Given the description of an element on the screen output the (x, y) to click on. 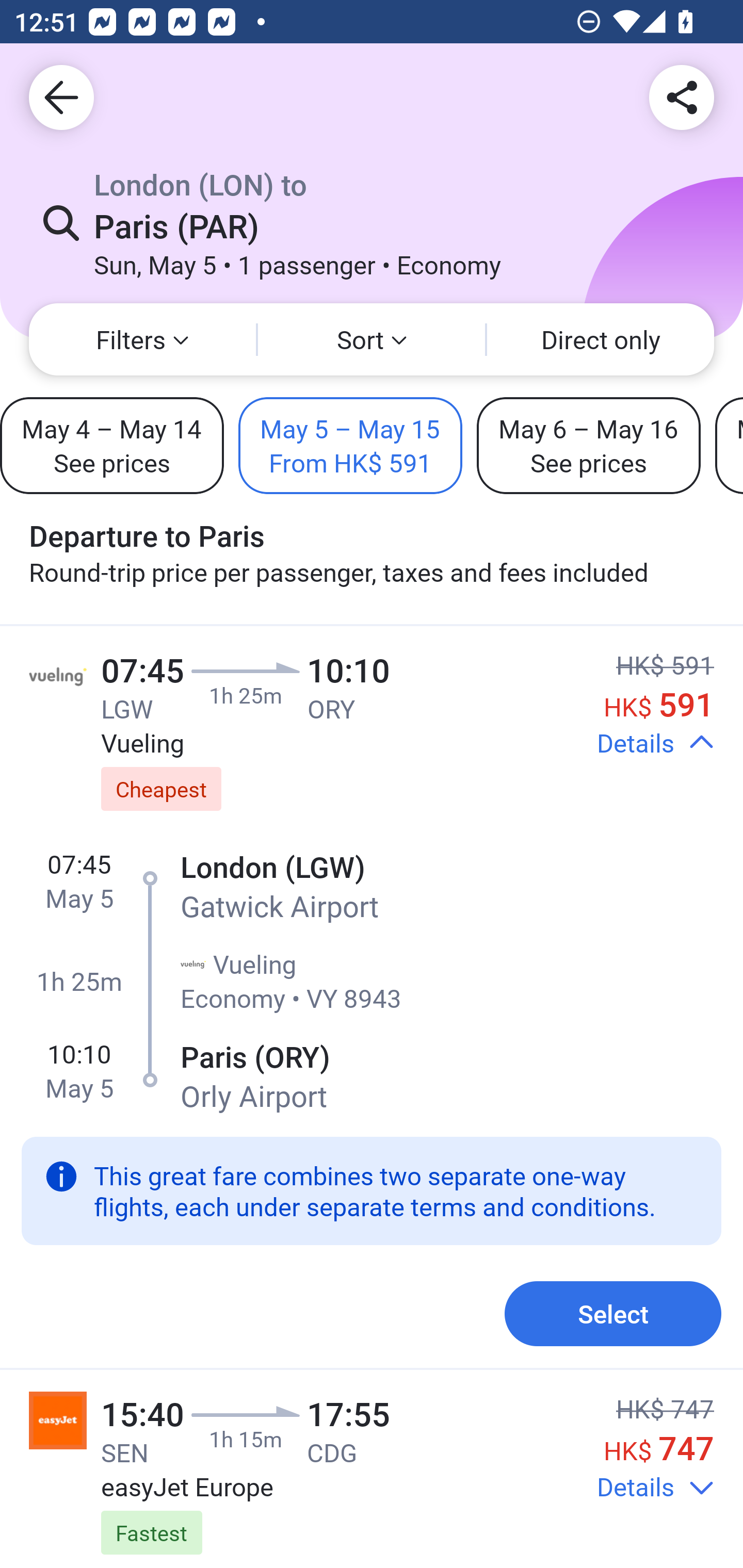
Filters (141, 339)
Sort (371, 339)
Direct only (600, 339)
May 4 – May 14 See prices (111, 444)
May 5 – May 15 From HK$ 591 (350, 444)
May 6 – May 16 See prices (588, 444)
Select (612, 1313)
